Given the description of an element on the screen output the (x, y) to click on. 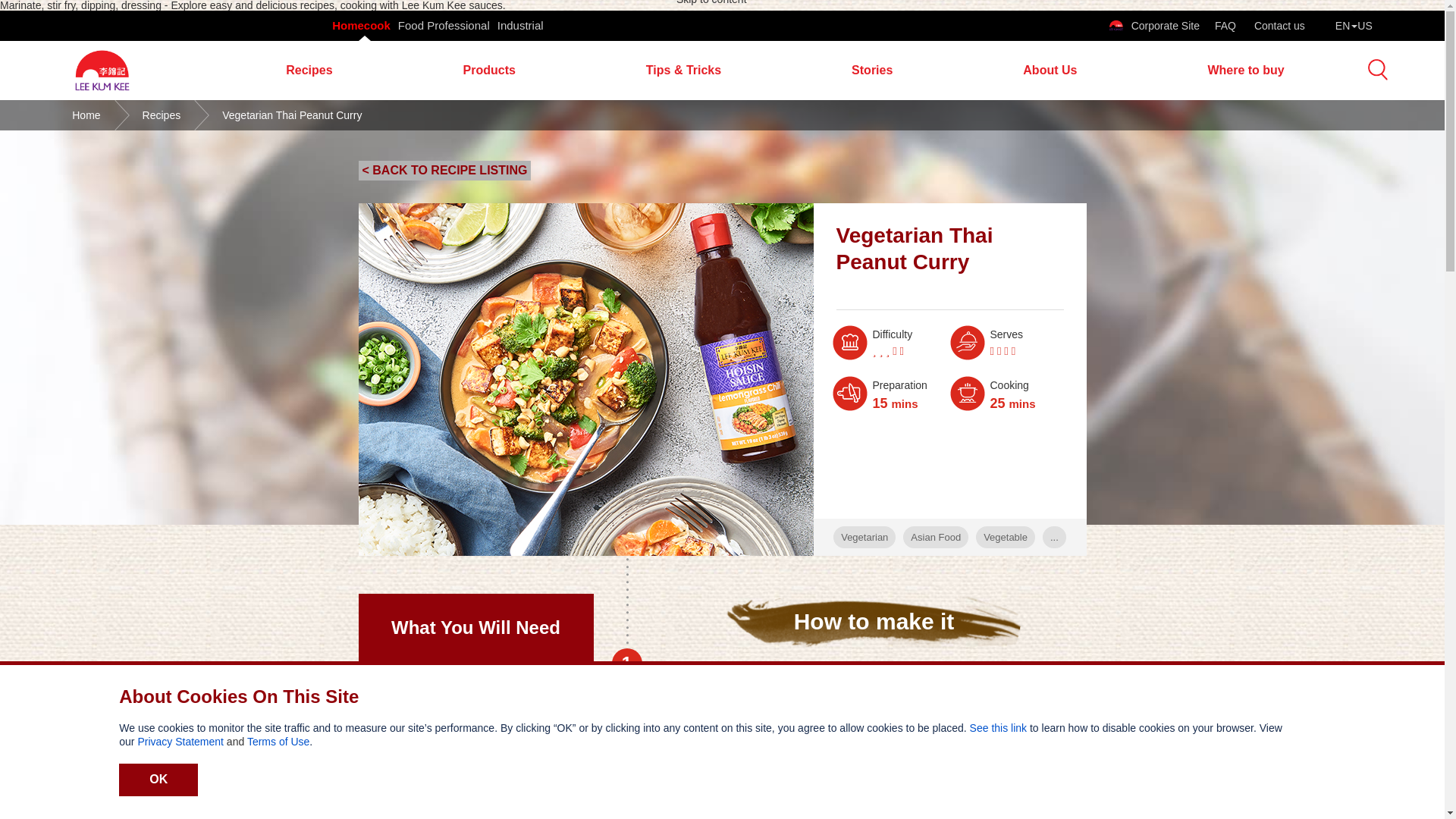
Contact us (1278, 25)
Corporate Site (1153, 25)
ENUS (1354, 25)
Contact us (1278, 25)
Homecook (360, 25)
FAQ (1226, 25)
Food Professional (443, 25)
Corporate Site (1153, 25)
FAQ  (1226, 25)
Homecook (360, 25)
Recipes (309, 70)
About Us (1049, 70)
Industrial (520, 25)
EN (1354, 25)
Stories (872, 70)
